Given the description of an element on the screen output the (x, y) to click on. 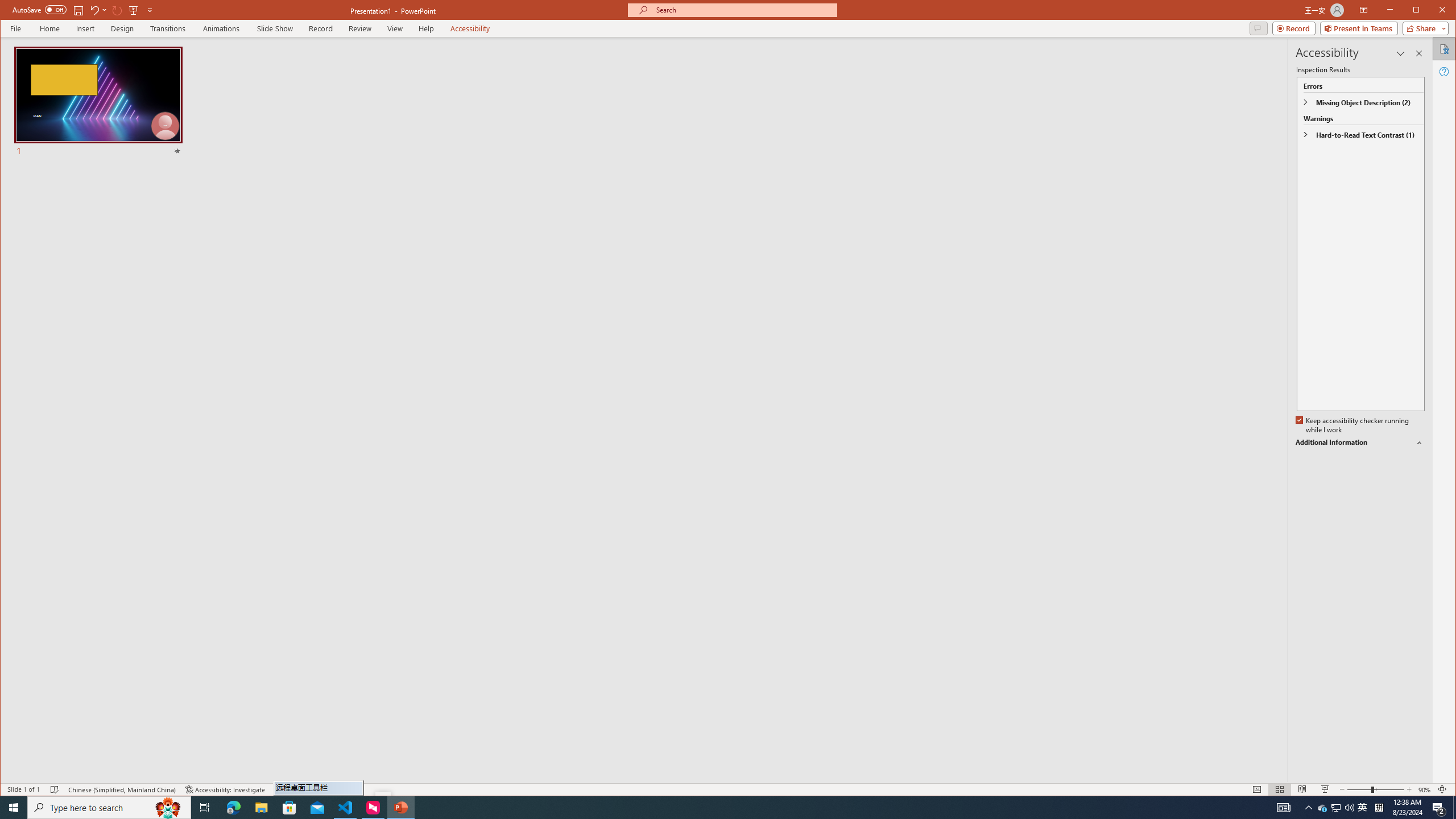
Microsoft Edge (233, 807)
File Tab (15, 27)
Transitions (167, 28)
Reading View (1302, 789)
Q2790: 100% (1349, 807)
AutomationID: 4105 (1283, 807)
Share (1422, 27)
Close pane (1418, 53)
Slide Show (1324, 789)
Slide Show (274, 28)
More Options (105, 9)
Undo (94, 9)
Microsoft search (742, 10)
Notification Chevron (1308, 807)
